Given the description of an element on the screen output the (x, y) to click on. 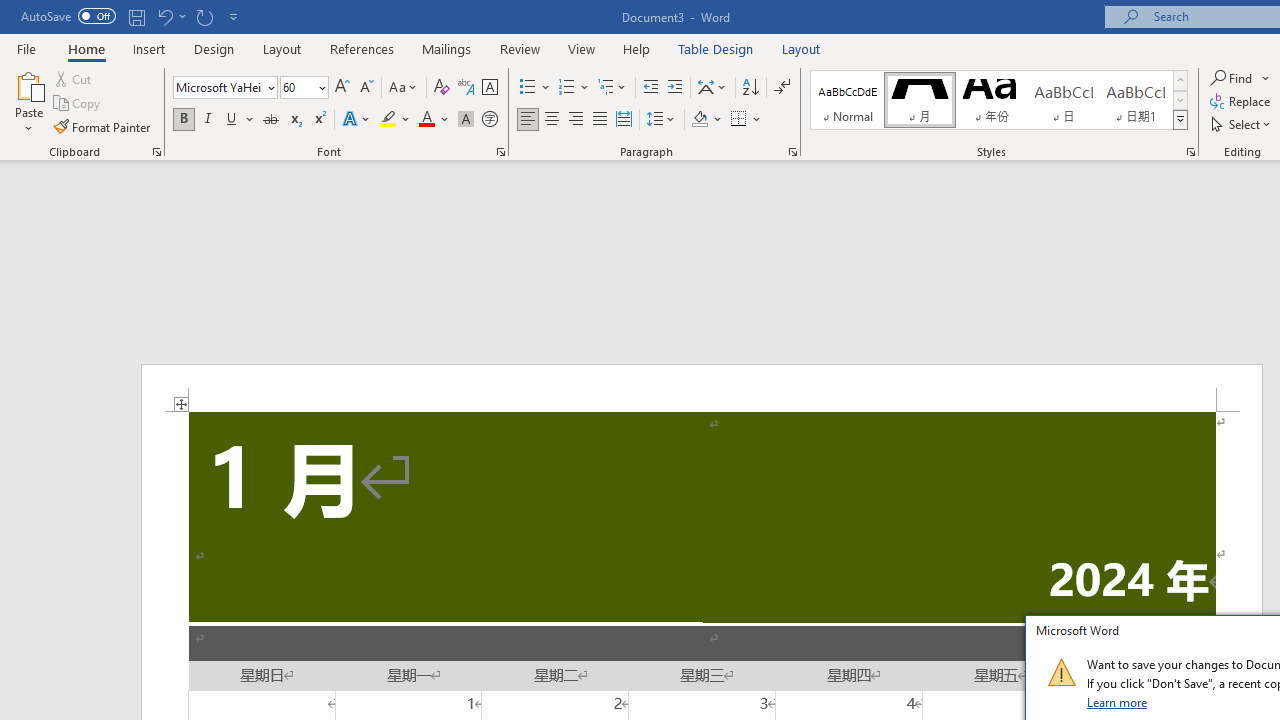
Format Painter (103, 126)
Underline (239, 119)
Increase Indent (675, 87)
File Tab (26, 48)
AutomationID: QuickStylesGallery (999, 99)
Insert (149, 48)
Font... (500, 151)
Paragraph... (792, 151)
Show/Hide Editing Marks (781, 87)
Undo Apply Quick Style (170, 15)
References (362, 48)
Numbering (566, 87)
Font (224, 87)
Borders (746, 119)
